Given the description of an element on the screen output the (x, y) to click on. 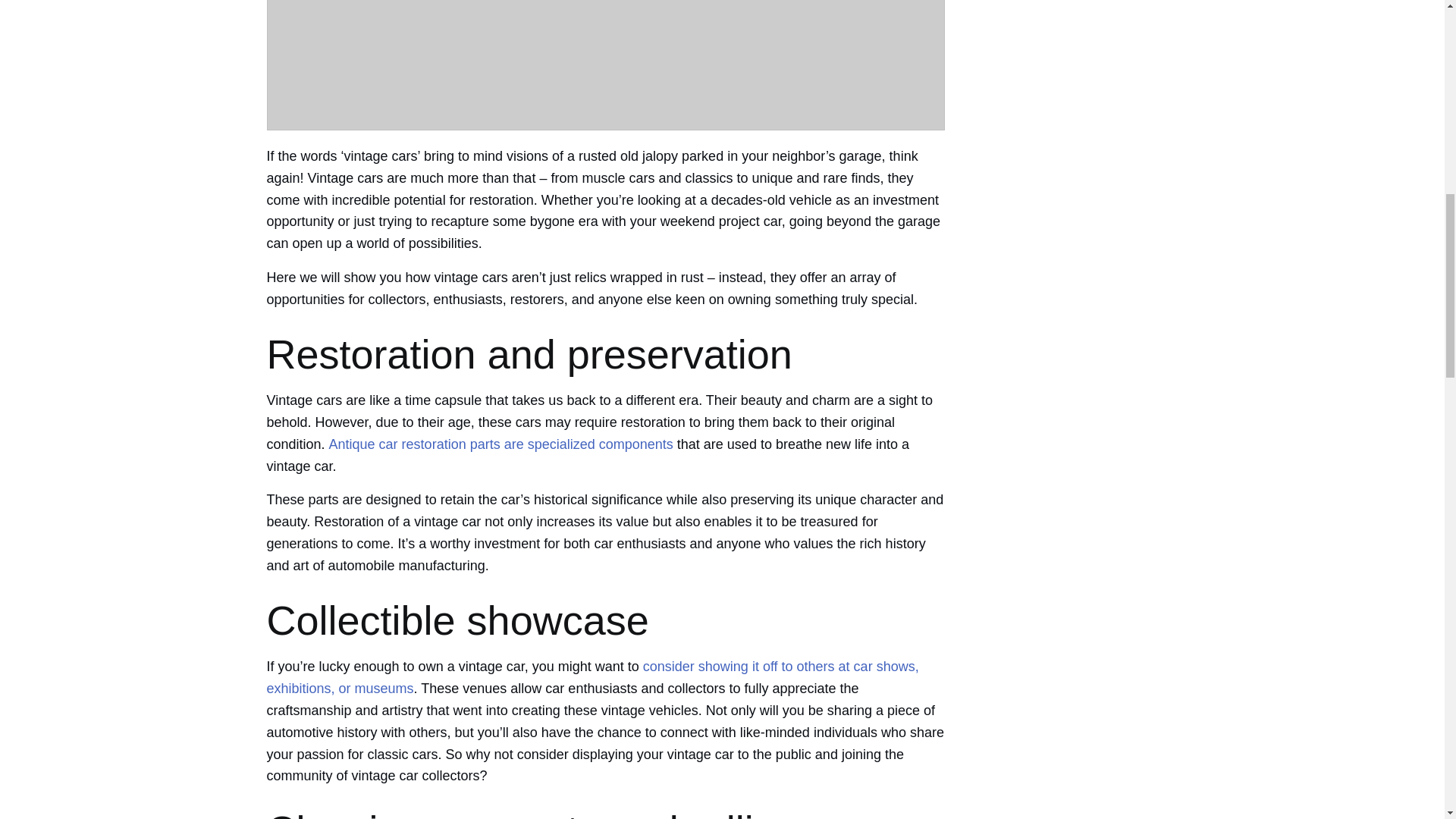
Antique car restoration parts are specialized components (500, 444)
